Given the description of an element on the screen output the (x, y) to click on. 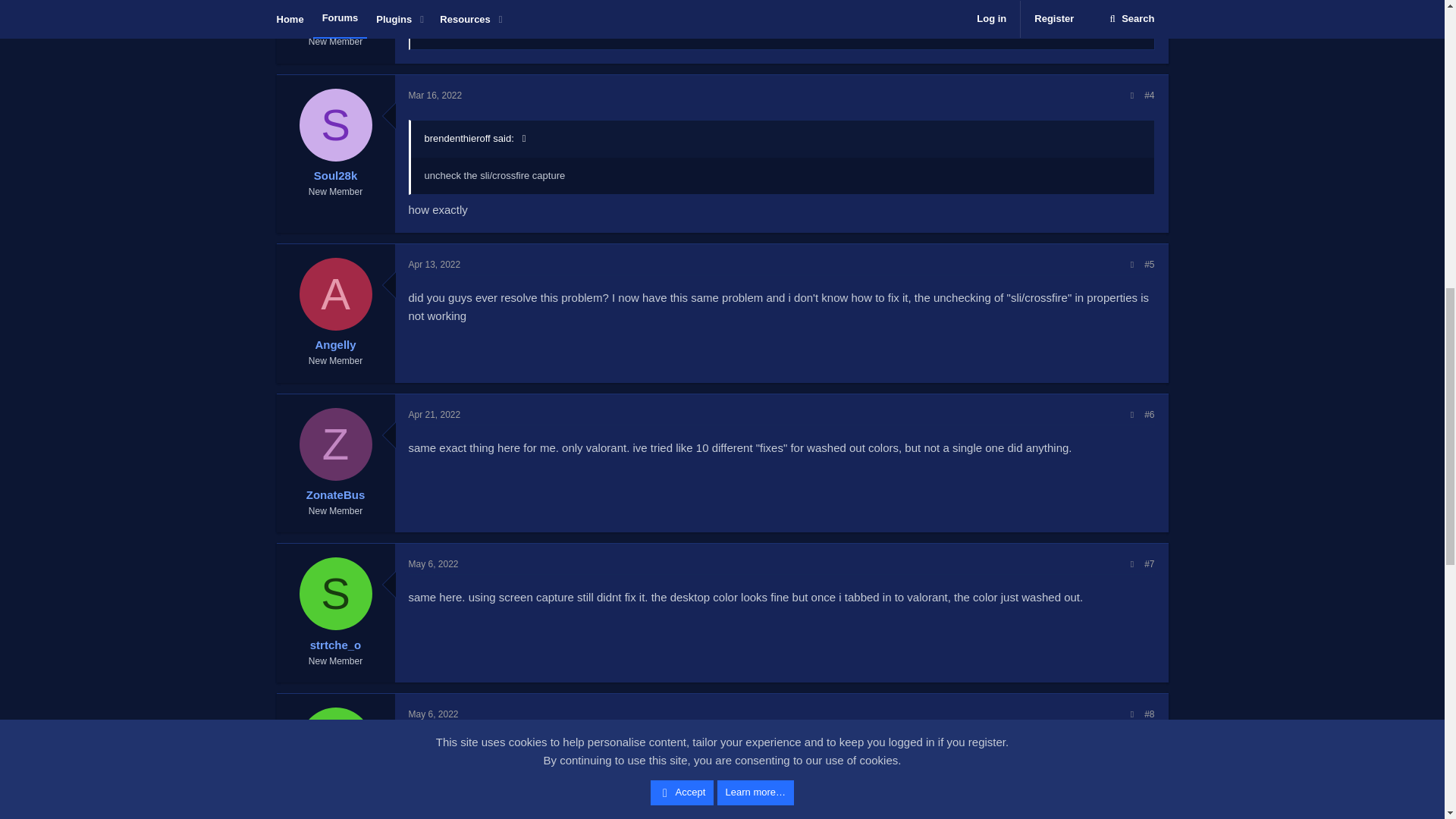
Apr 21, 2022 at 5:44 AM (433, 414)
Apr 13, 2022 at 5:29 PM (433, 264)
May 6, 2022 at 3:44 PM (432, 714)
Mar 16, 2022 at 4:05 PM (434, 95)
Like (426, 30)
May 6, 2022 at 2:44 PM (432, 563)
